Given the description of an element on the screen output the (x, y) to click on. 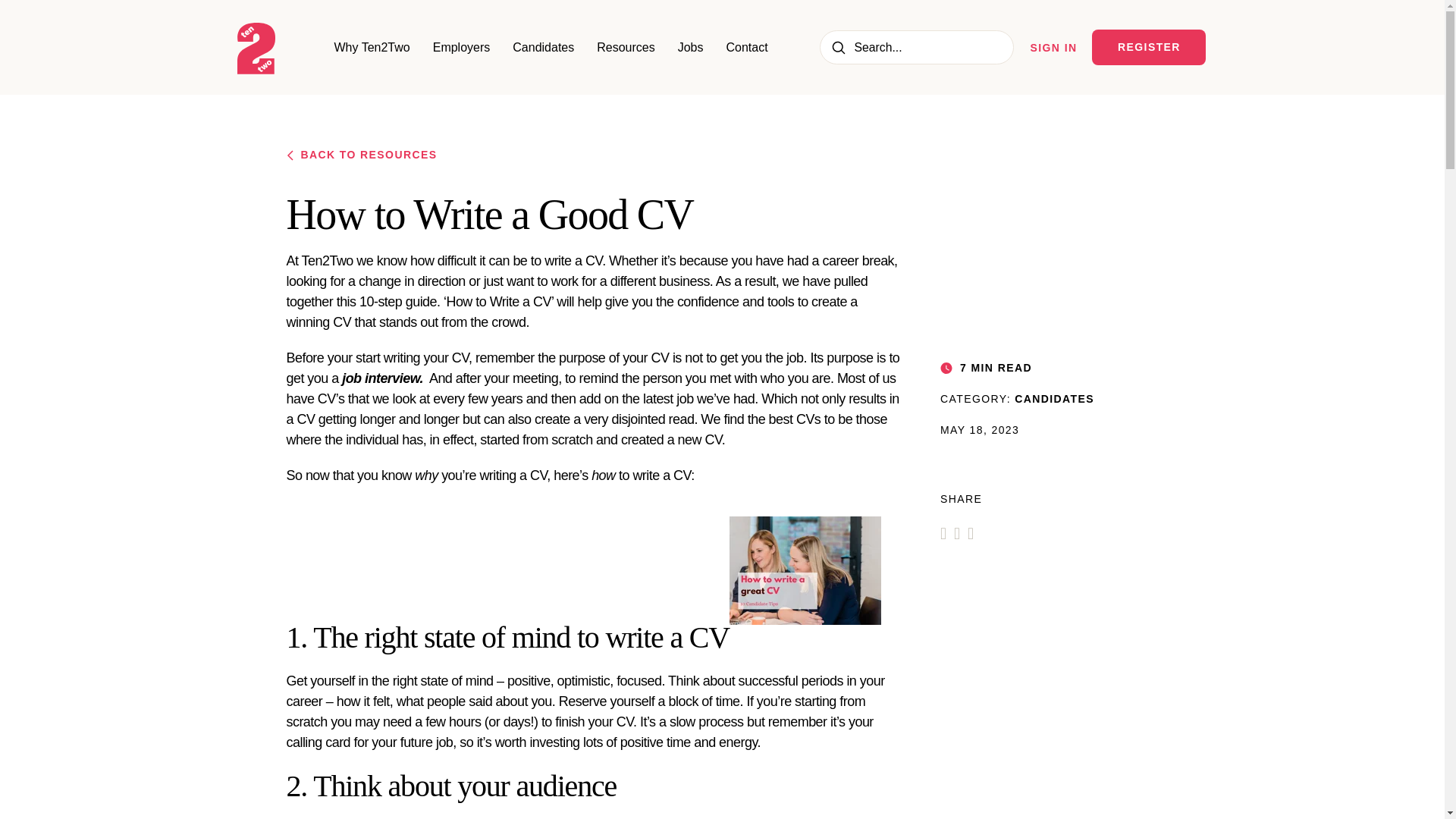
Jobs (690, 47)
CANDIDATES (1054, 398)
Contact (747, 47)
BACK TO RESOURCES (594, 155)
Resources (624, 47)
SIGN IN (1053, 47)
Employers (461, 47)
Why Ten2Two (371, 47)
REGISTER (1148, 47)
Candidates (542, 47)
